Given the description of an element on the screen output the (x, y) to click on. 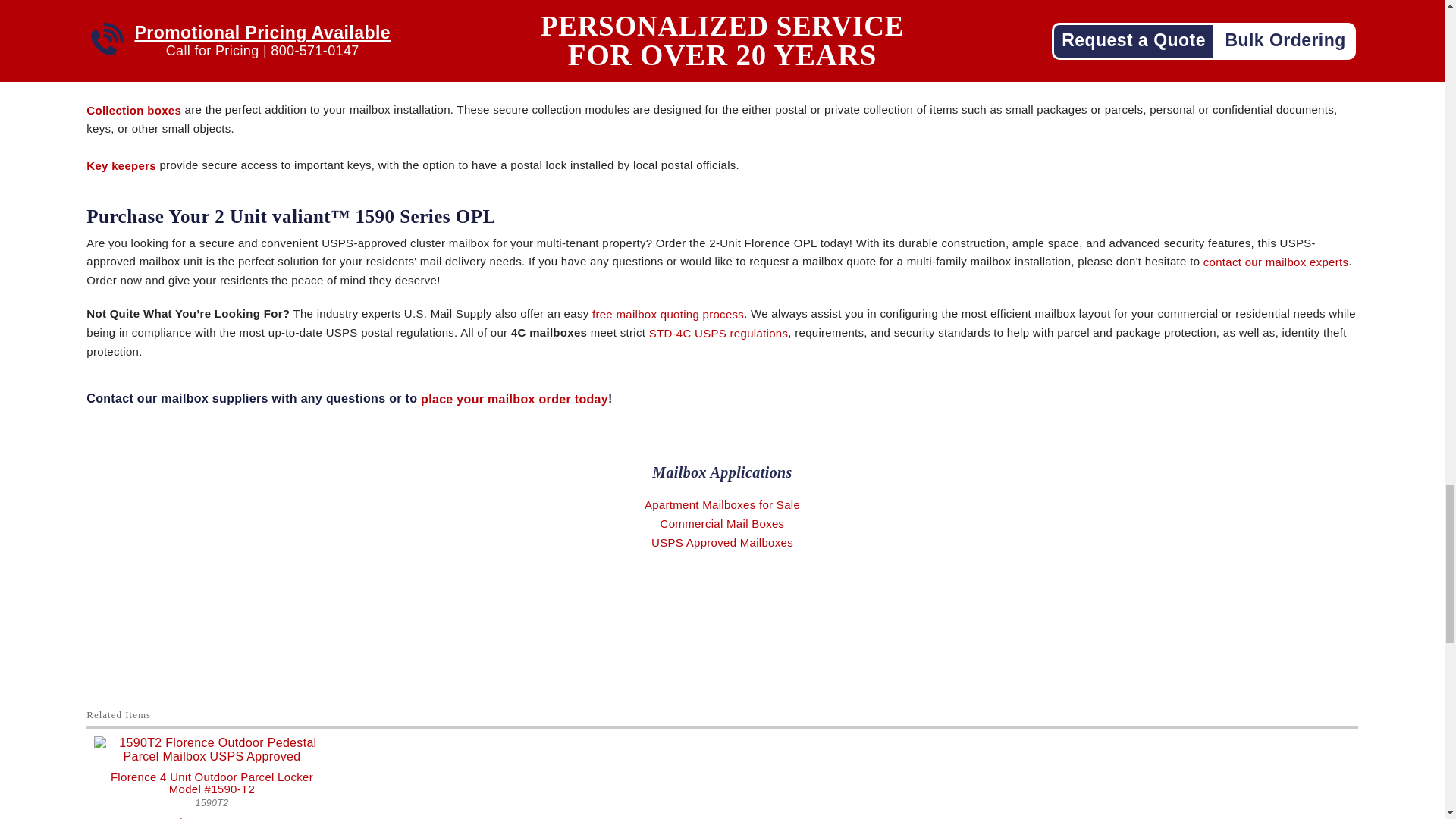
Collection boxes (132, 110)
